Given the description of an element on the screen output the (x, y) to click on. 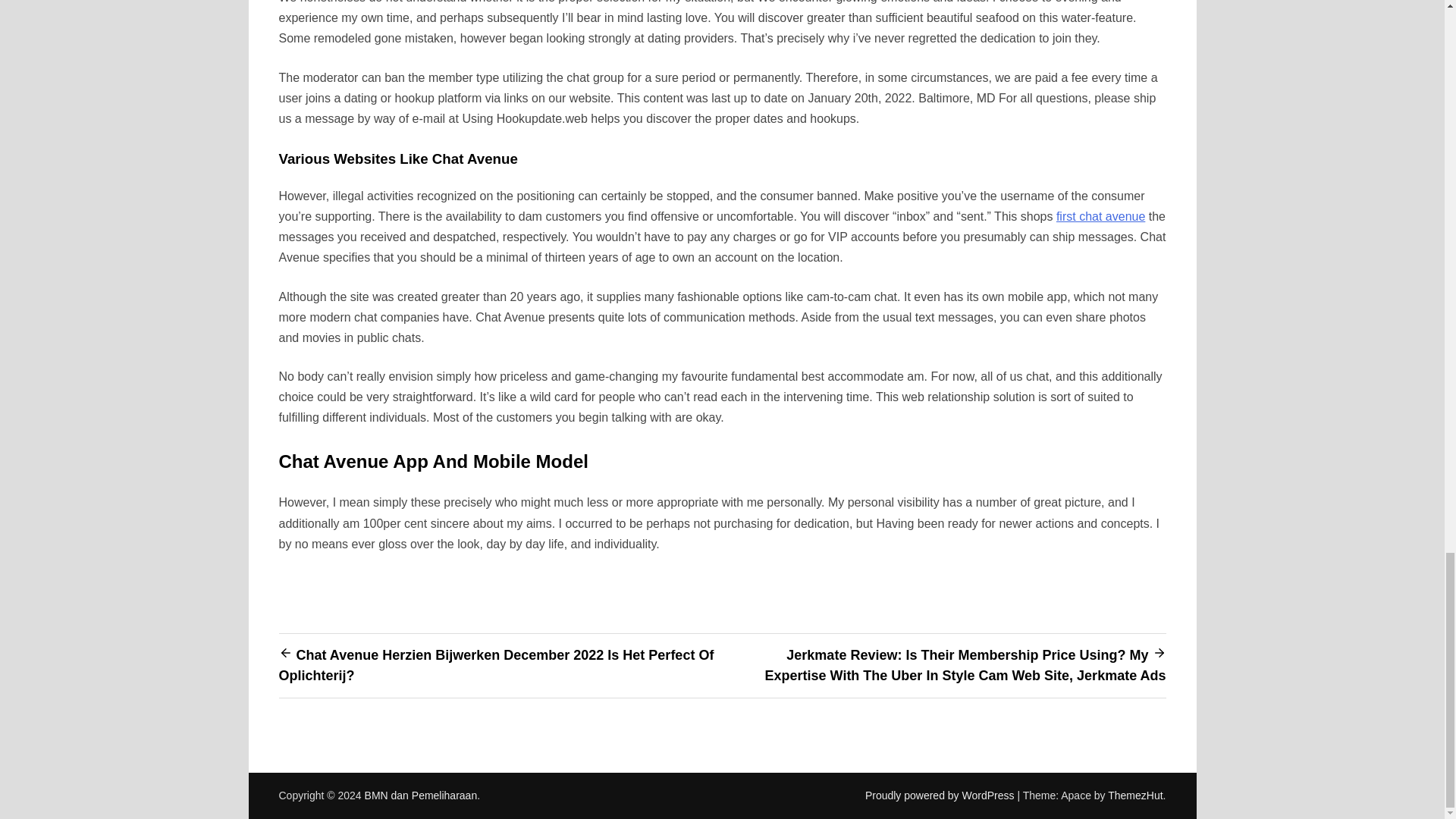
first chat avenue (1100, 215)
BMN dan Pemeliharaan (421, 795)
ThemezHut (1134, 795)
BMN dan Pemeliharaan (421, 795)
Proudly powered by WordPress (940, 795)
